Given the description of an element on the screen output the (x, y) to click on. 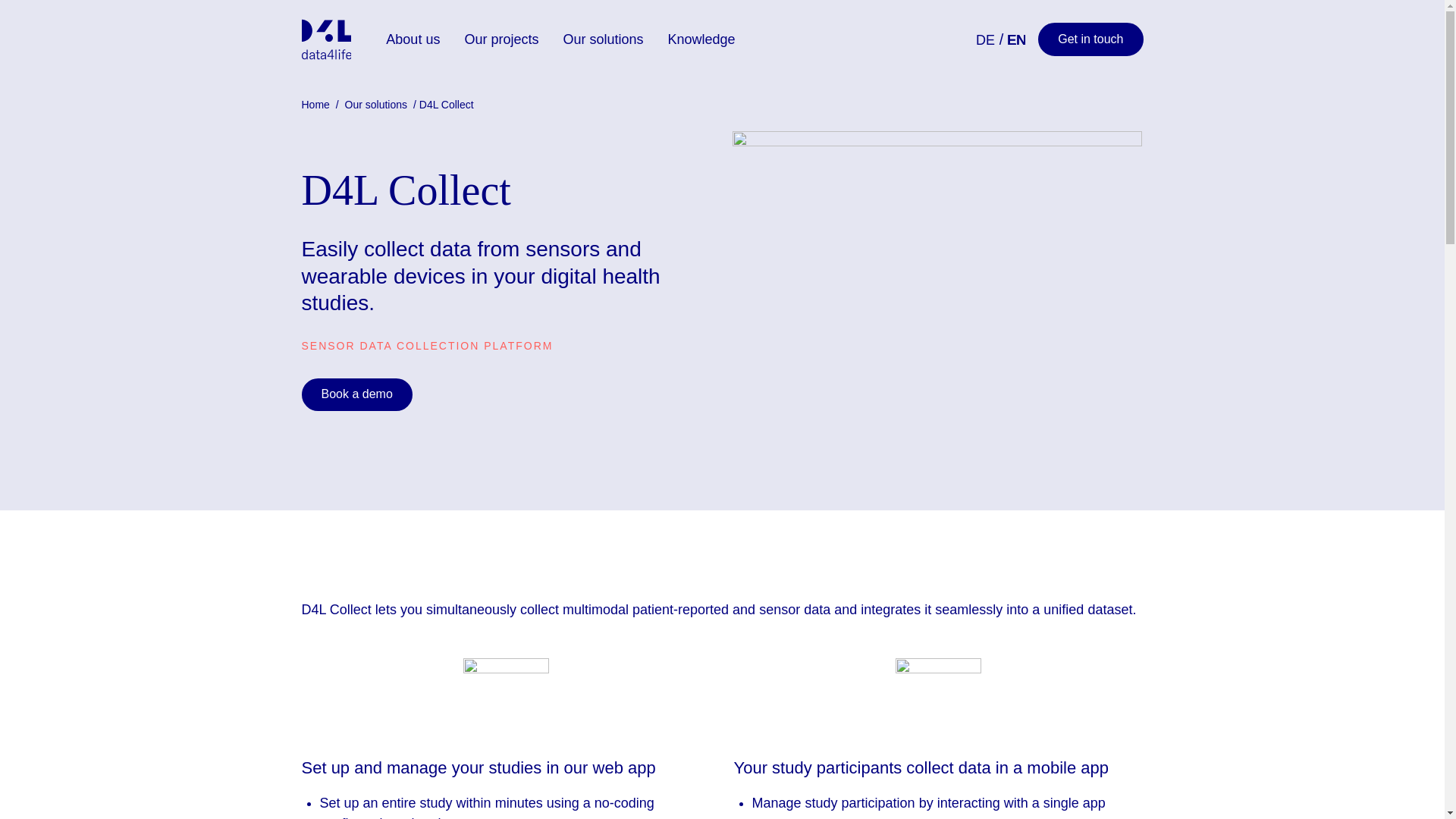
Get in touch (1090, 38)
Our solutions (602, 38)
DE (984, 40)
EN (1016, 40)
Book a demo (356, 394)
About us (412, 38)
Our solutions (377, 104)
Home (317, 104)
Knowledge (702, 38)
Our projects (500, 38)
